Given the description of an element on the screen output the (x, y) to click on. 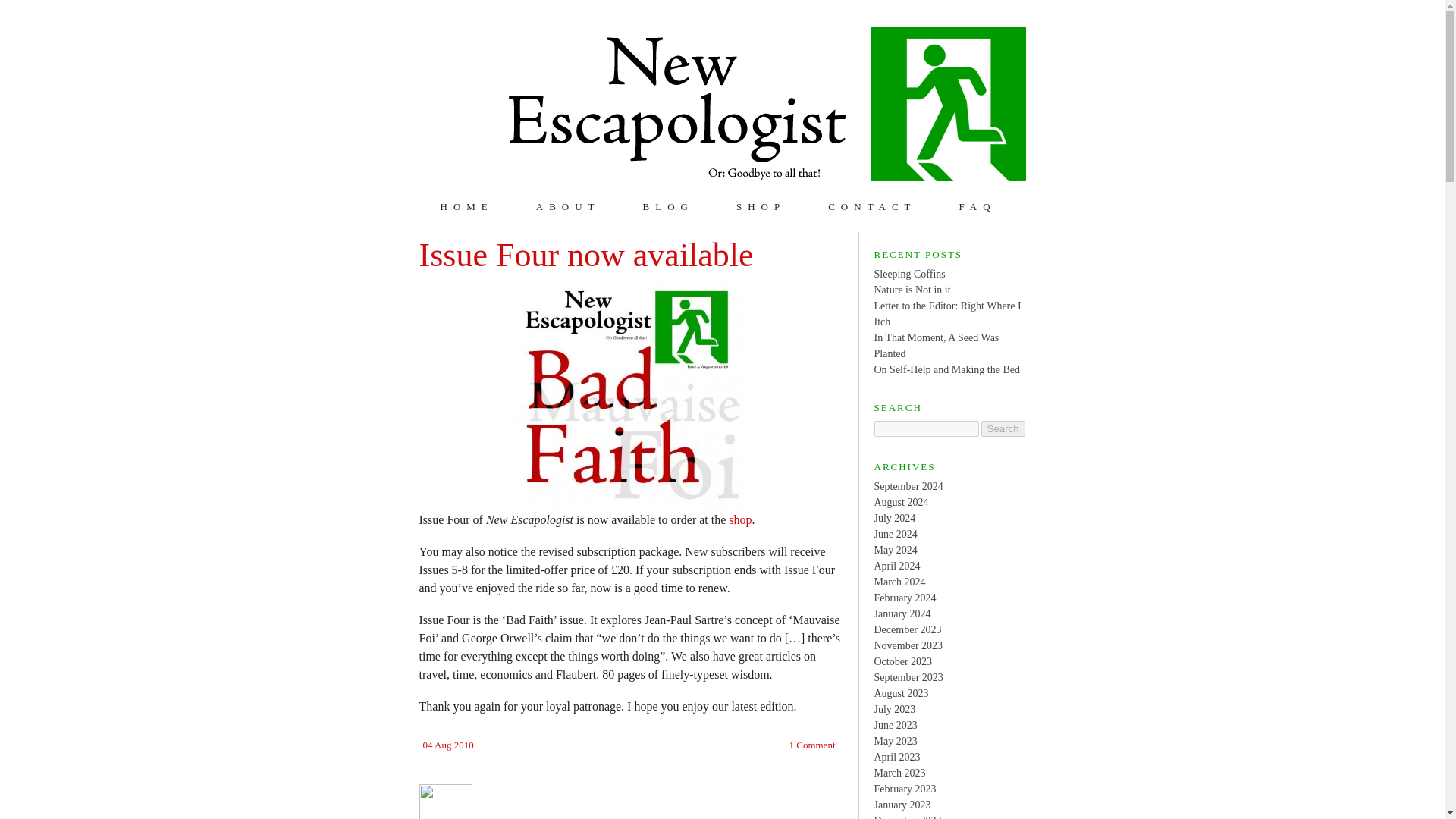
July 2024 (894, 518)
04 Aug 2010 (448, 744)
Search (1003, 428)
Issue Four now available (585, 254)
Nature is Not in it (911, 288)
CONTACT (871, 206)
November 2023 (907, 645)
April 2024 (896, 564)
1 Comment (811, 745)
June 2023 (895, 724)
